Given the description of an element on the screen output the (x, y) to click on. 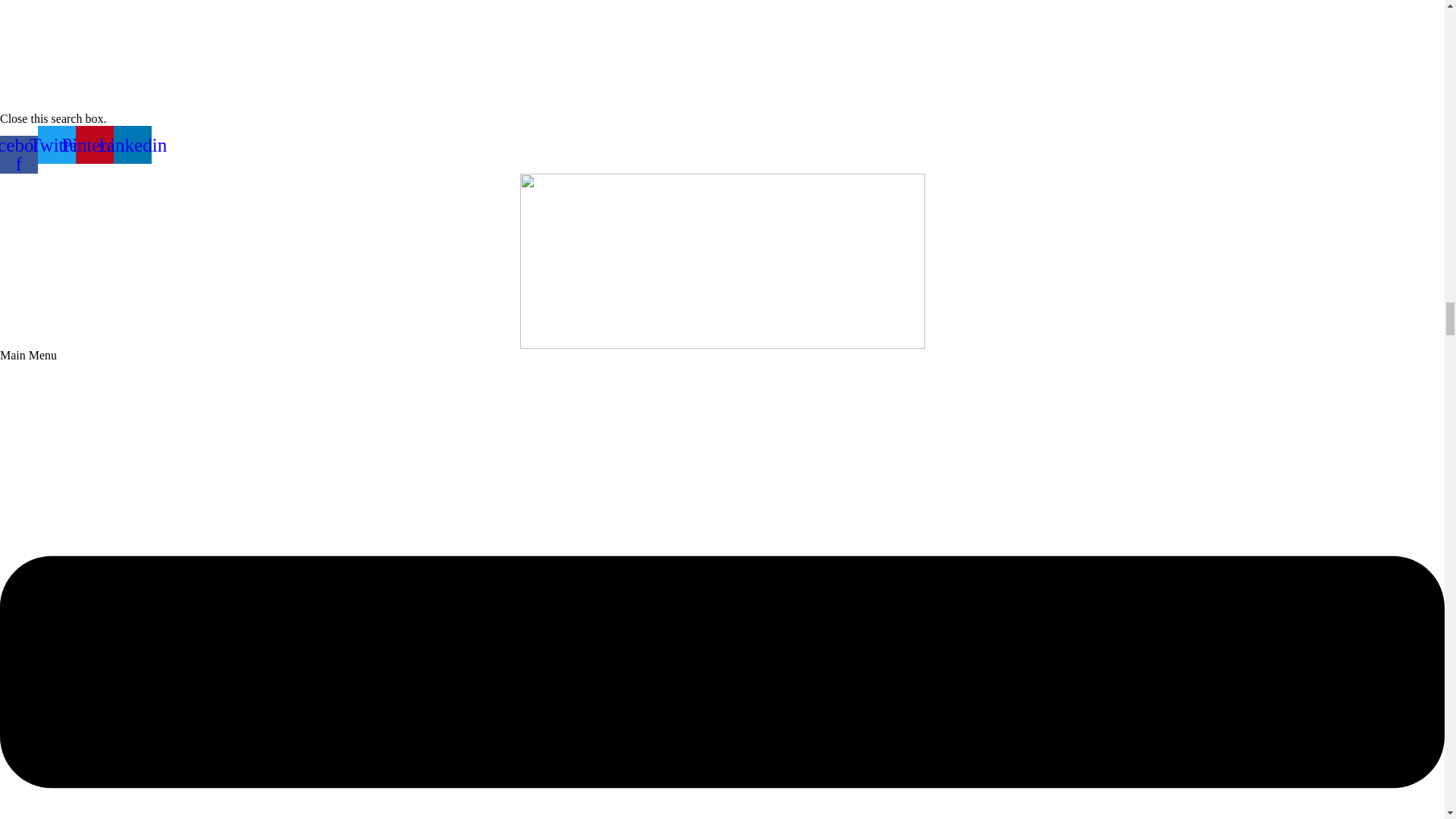
Facebook-f (18, 154)
Linkedin (132, 144)
Pinterest (94, 144)
Twitter (56, 144)
